Given the description of an element on the screen output the (x, y) to click on. 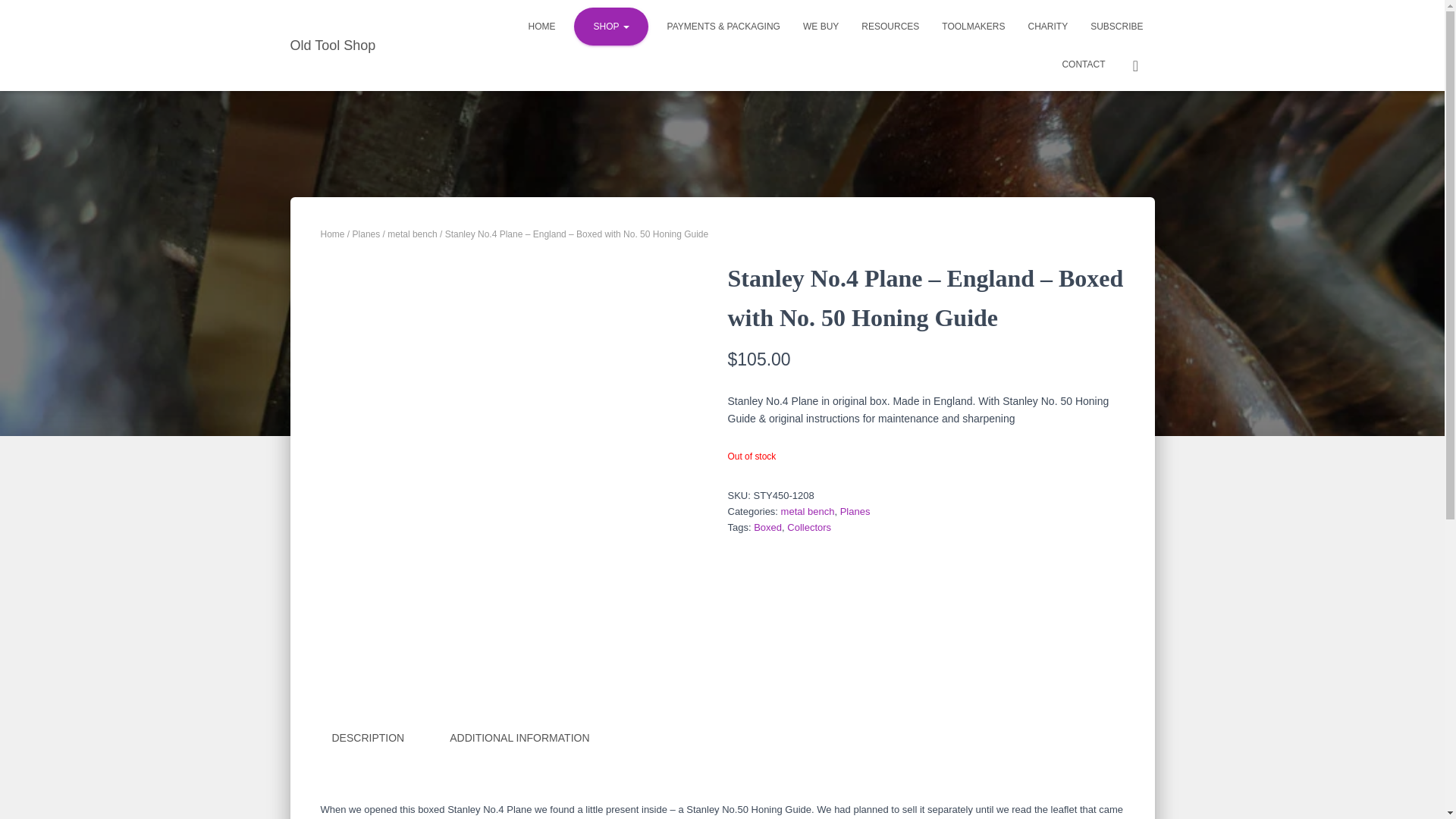
Home (541, 26)
DESCRIPTION (367, 738)
Home (331, 234)
Boxed (767, 527)
CONTACT (1082, 64)
TOOLMAKERS (973, 26)
Planes (366, 234)
Shop (610, 26)
Planes (855, 511)
RESOURCES (890, 26)
SHOP (610, 26)
Old Tool Shop (333, 45)
metal bench (807, 511)
WE BUY (821, 26)
ADDITIONAL INFORMATION (518, 738)
